Given the description of an element on the screen output the (x, y) to click on. 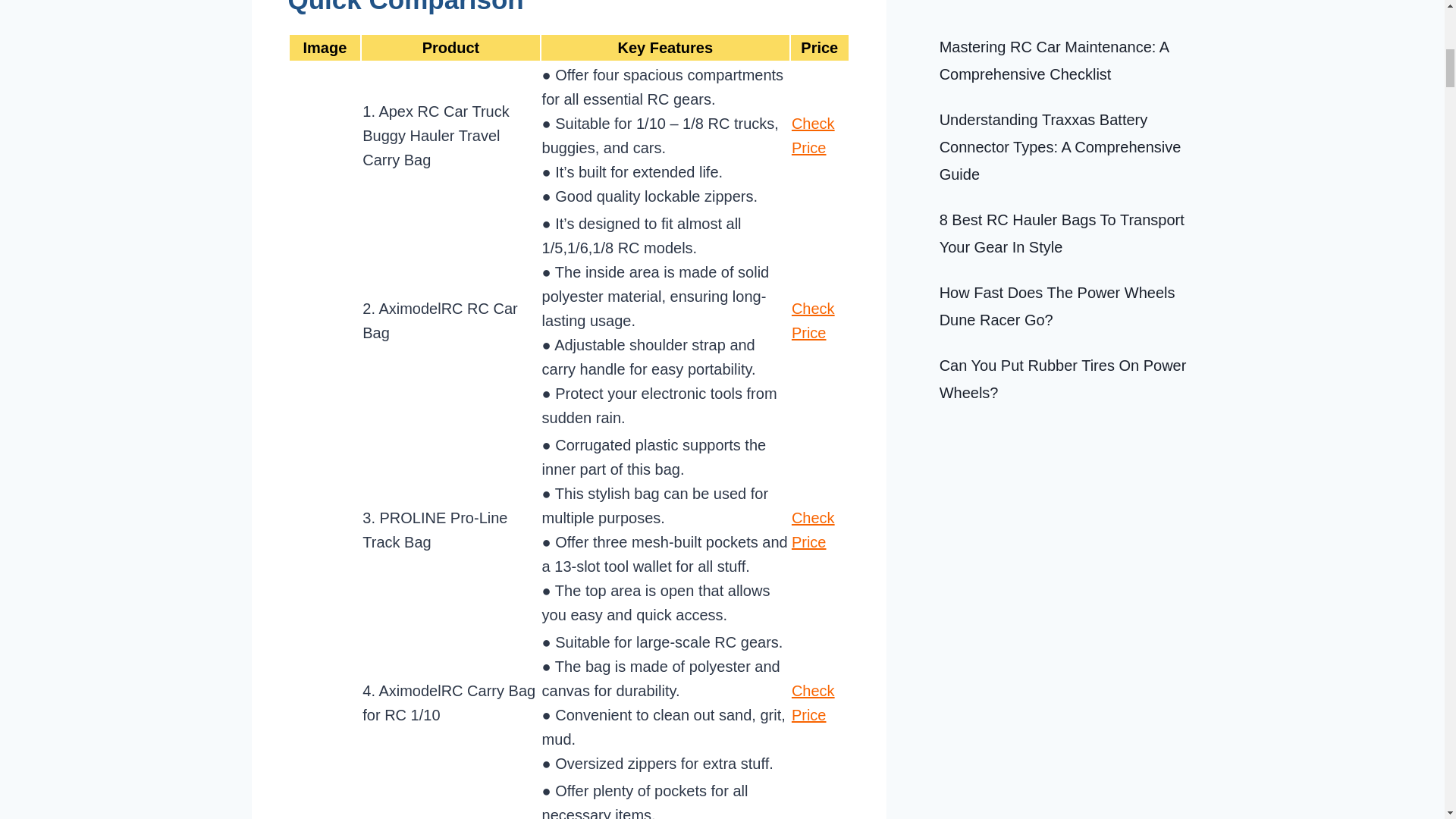
Check Price (813, 320)
Can You Put Rubber Tires On Power Wheels? (1062, 20)
Check Price (813, 702)
Check Price (813, 135)
Check Price (813, 529)
